Given the description of an element on the screen output the (x, y) to click on. 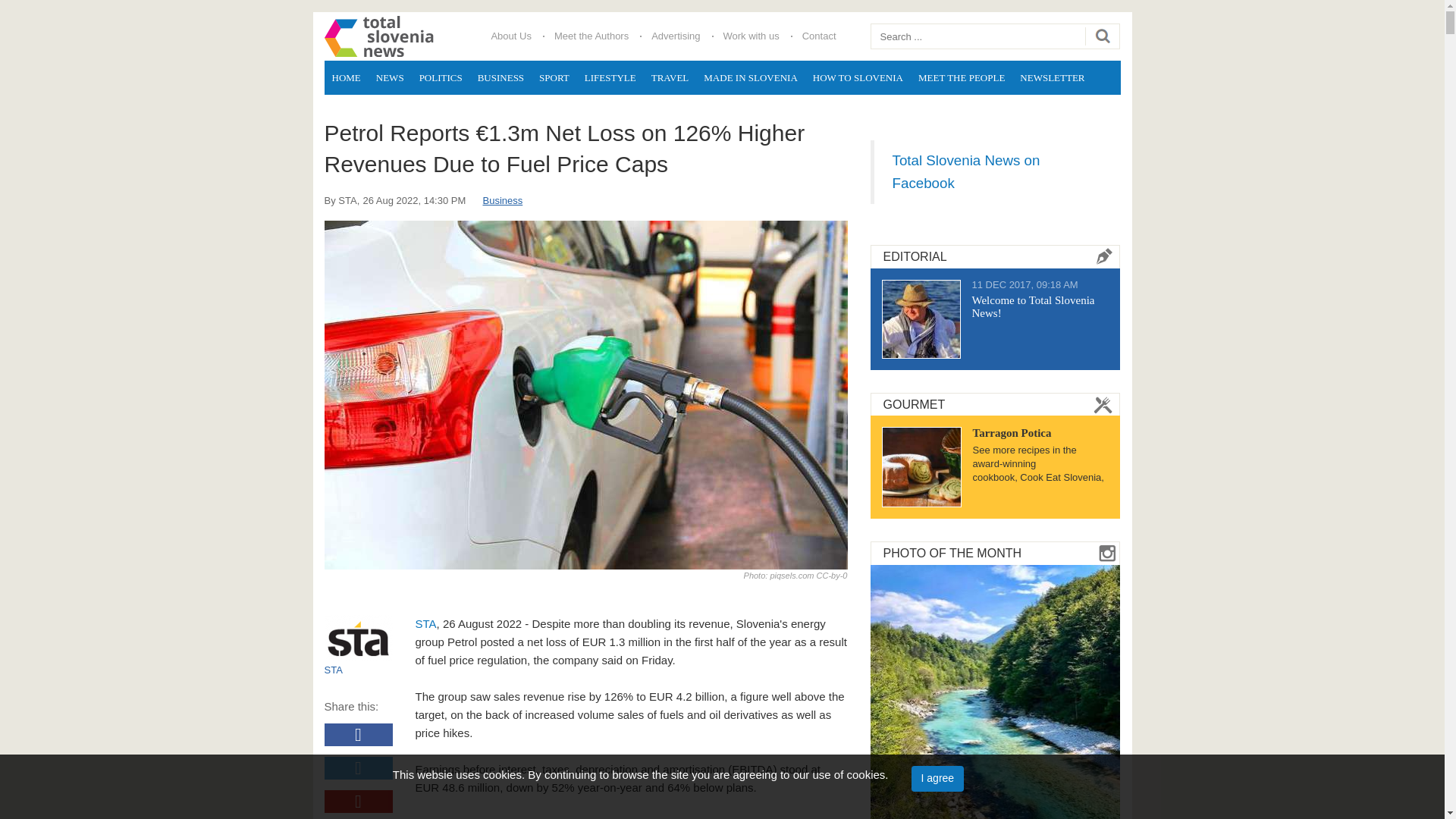
Welcome to Total Slovenia News! (1033, 306)
TRAVEL (670, 77)
MADE IN SLOVENIA (750, 77)
LIFESTYLE (609, 77)
Share (358, 734)
Business (501, 200)
HOME (346, 77)
Meet the Authors (591, 35)
STA (425, 623)
NEWS (390, 77)
SPORT (553, 77)
Total Slovenia News on Facebook (965, 171)
Contact (818, 35)
Advertising (675, 35)
Share (358, 767)
